Given the description of an element on the screen output the (x, y) to click on. 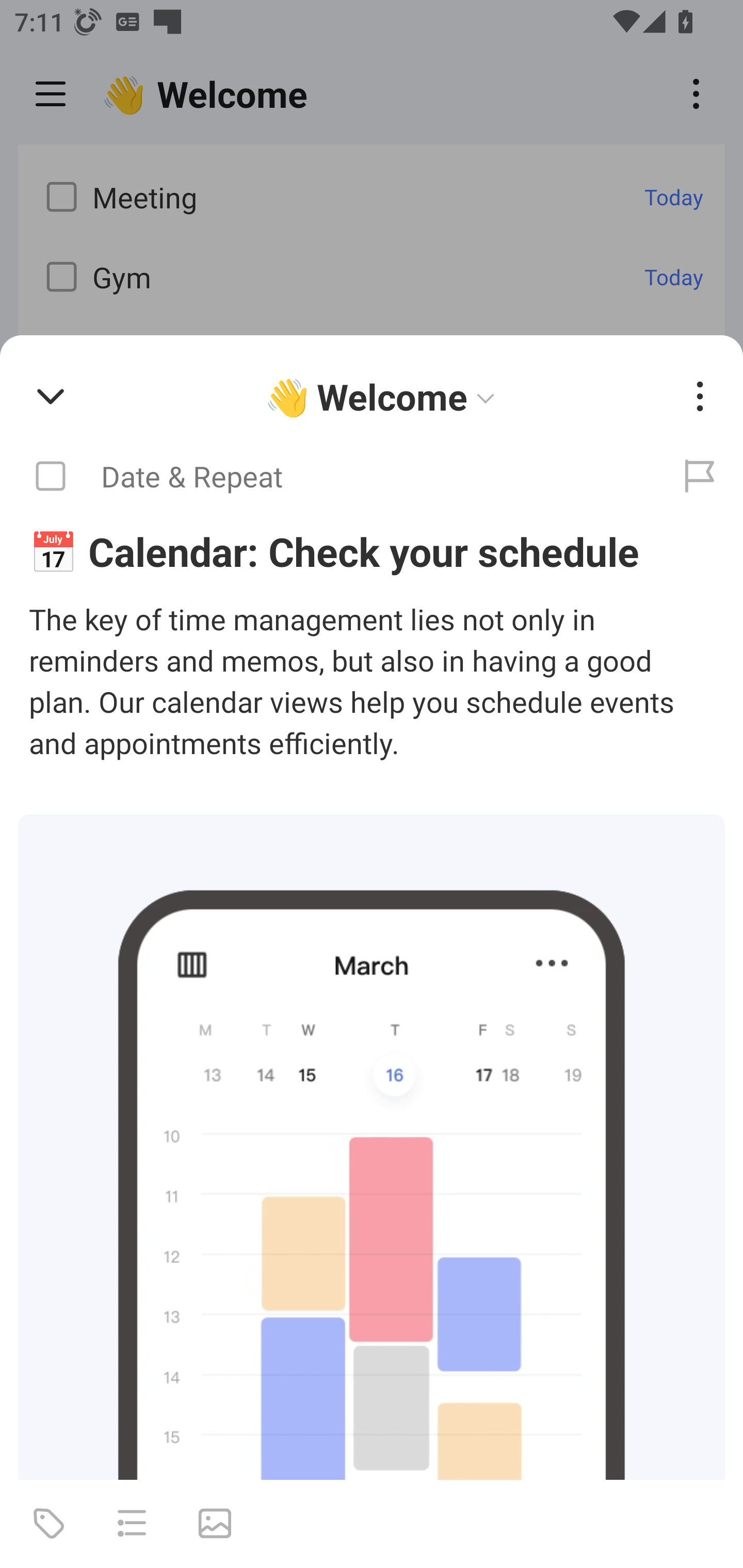
👋 Welcome (384, 396)
Date & Repeat (328, 476)
📅 Calendar: Check your schedule (371, 551)
